Given the description of an element on the screen output the (x, y) to click on. 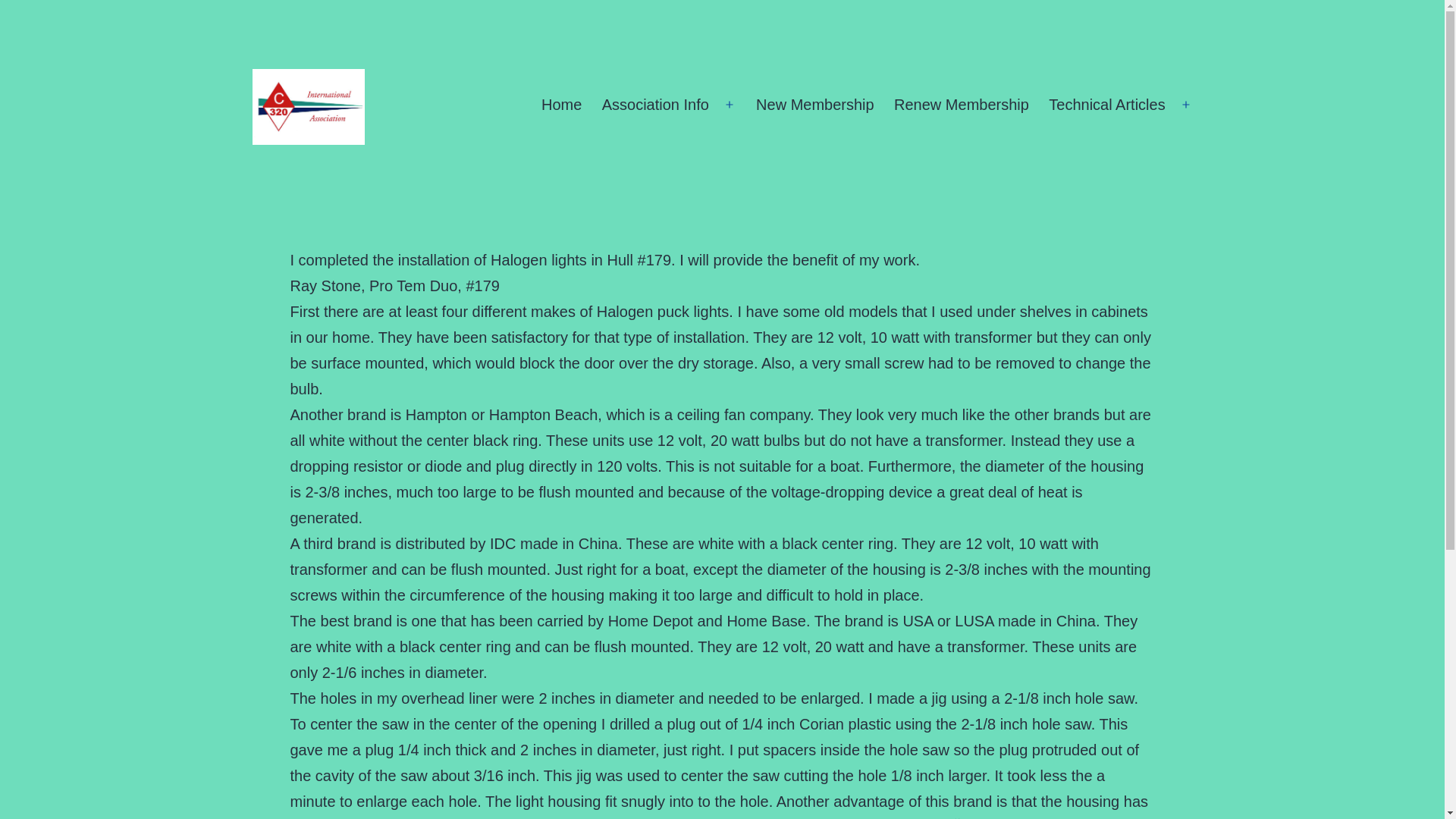
Technical Articles (1106, 105)
Renew Membership (961, 105)
Home (561, 105)
Association Info (655, 105)
New Membership (814, 105)
